Given the description of an element on the screen output the (x, y) to click on. 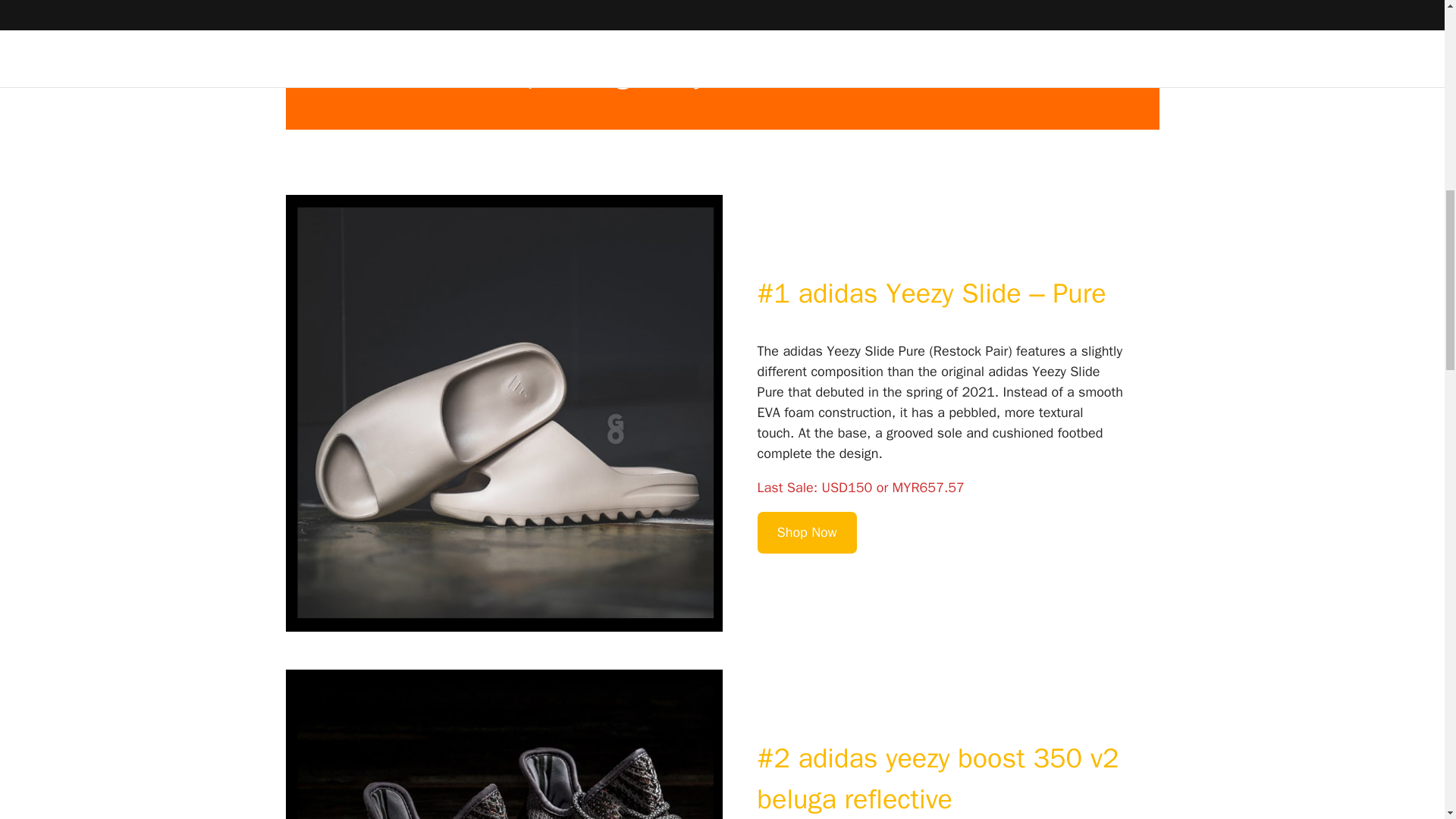
Shop Now (807, 532)
